Given the description of an element on the screen output the (x, y) to click on. 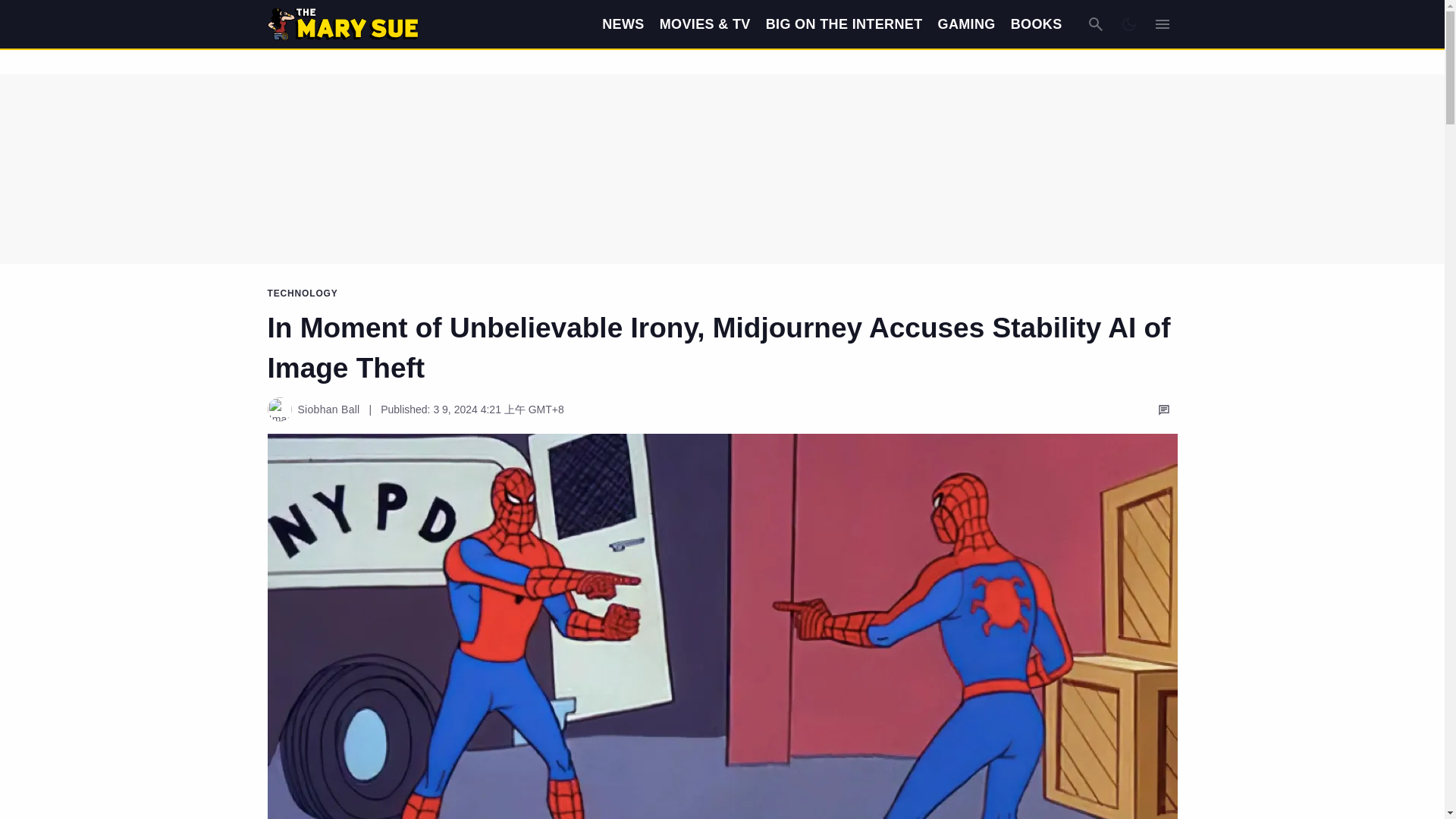
BIG ON THE INTERNET (844, 23)
NEWS (622, 23)
Expand Menu (1161, 24)
GAMING (966, 23)
Search (1094, 24)
BOOKS (1036, 23)
Dark Mode (1127, 24)
